Given the description of an element on the screen output the (x, y) to click on. 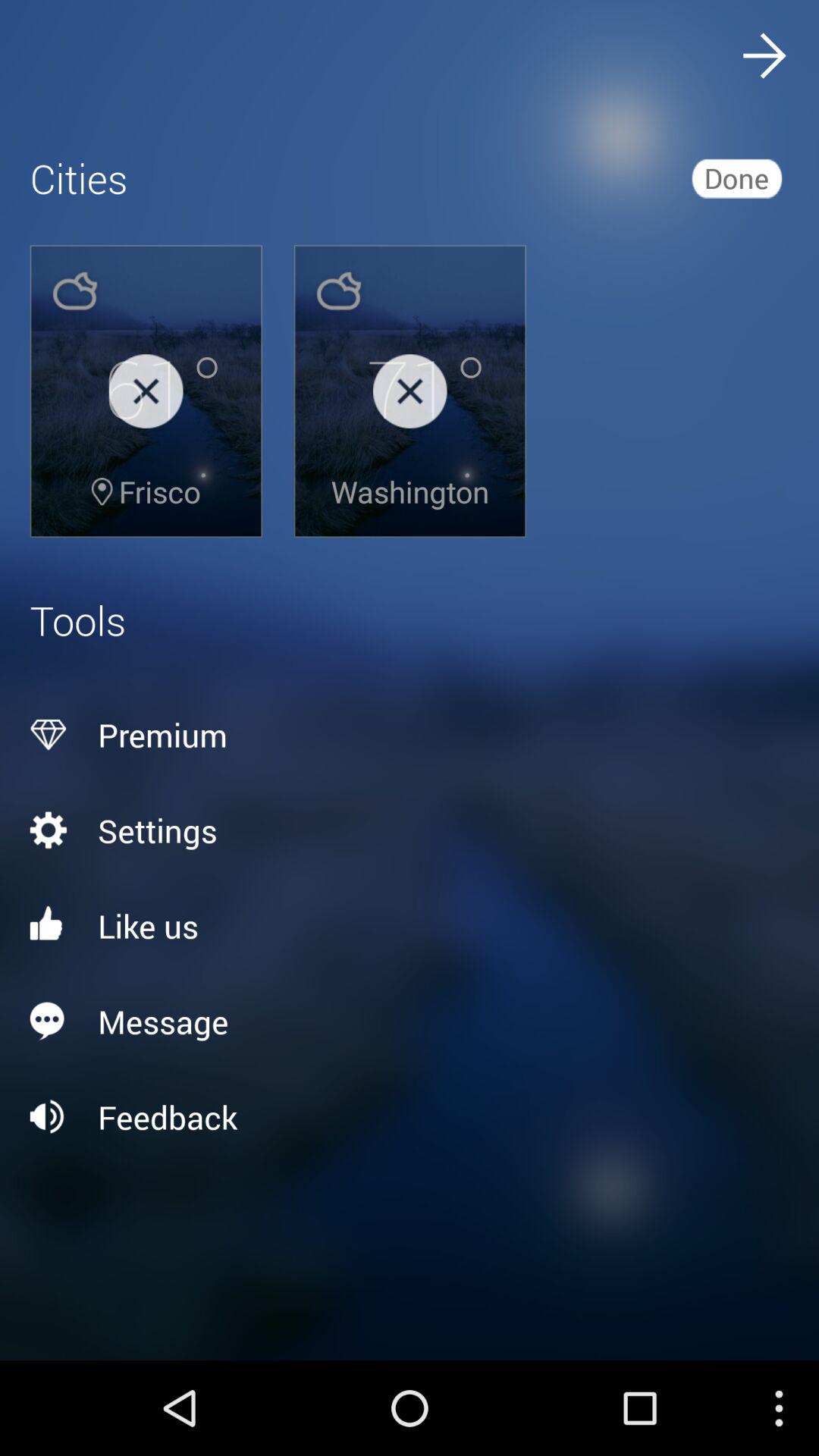
select the item above message (409, 925)
